Given the description of an element on the screen output the (x, y) to click on. 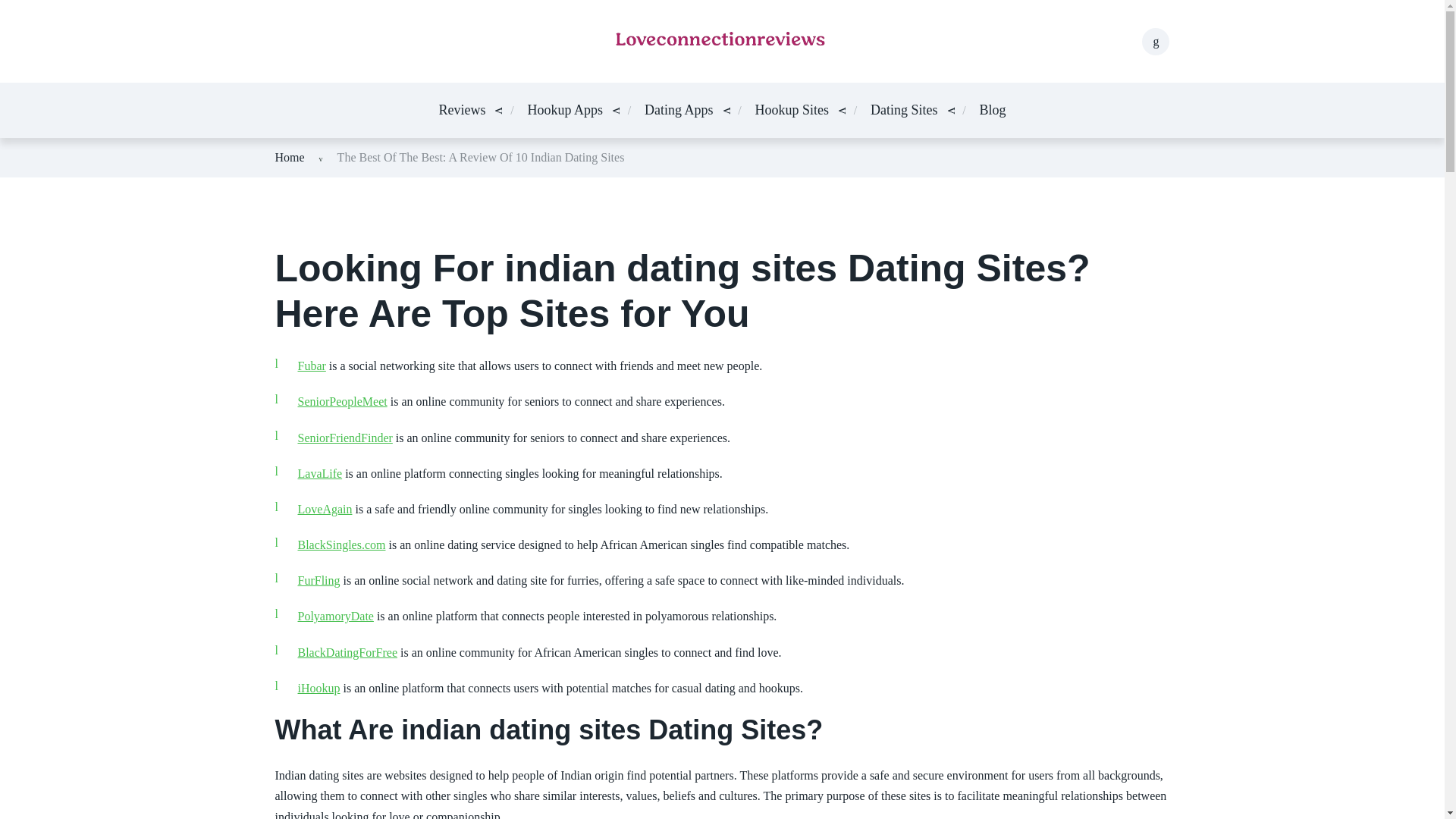
Reviews (461, 109)
The Best Of The Best: A Review Of 10 Indian Dating Sites (480, 156)
Home (289, 156)
